Given the description of an element on the screen output the (x, y) to click on. 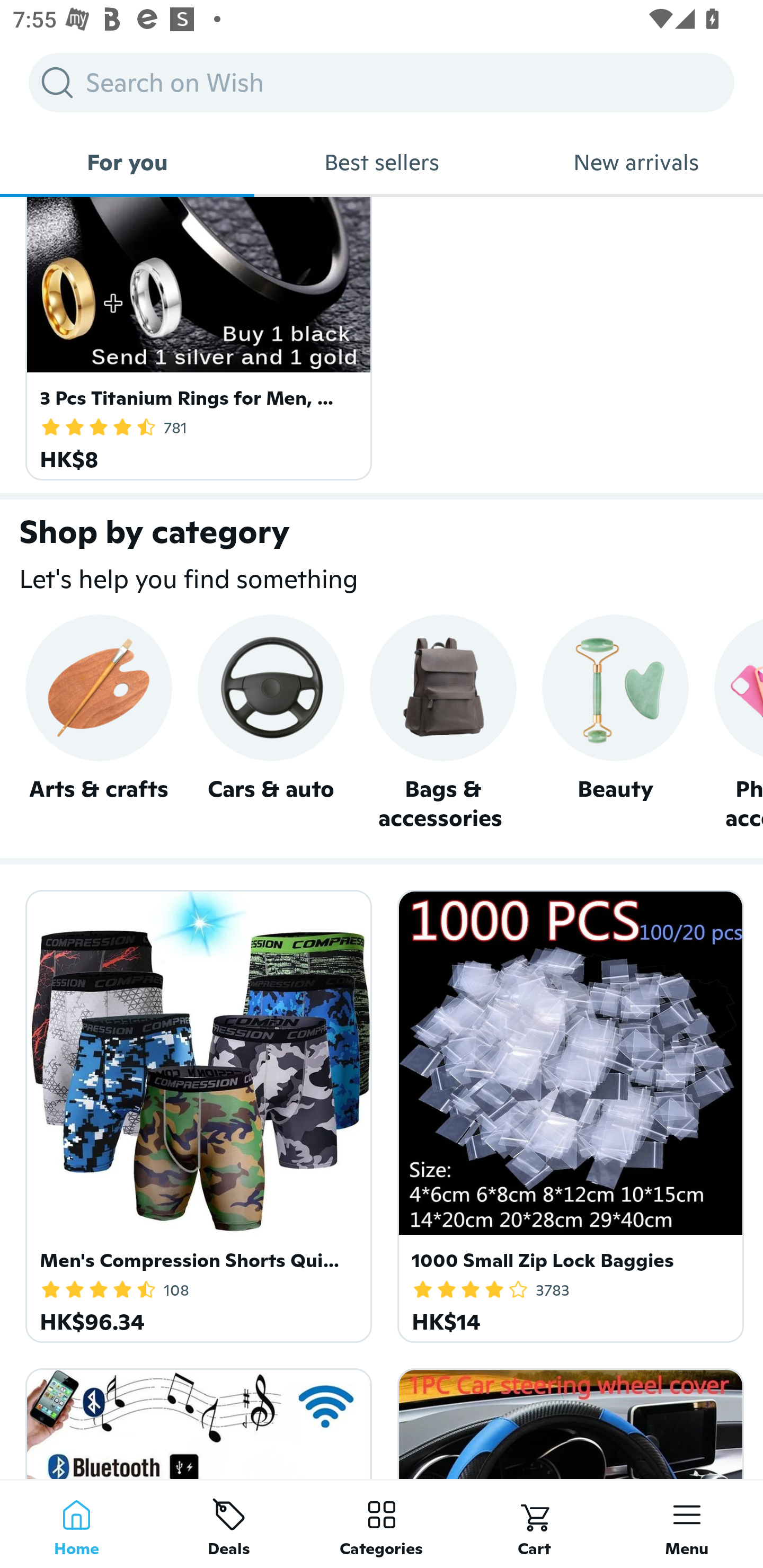
Search on Wish (381, 82)
For you (127, 161)
Best sellers (381, 161)
New arrivals (635, 161)
Arts & crafts (98, 723)
Cars & auto (270, 723)
Bags & accessories  (443, 723)
Beauty (614, 723)
Home (76, 1523)
Deals (228, 1523)
Categories (381, 1523)
Cart (533, 1523)
Menu (686, 1523)
